Given the description of an element on the screen output the (x, y) to click on. 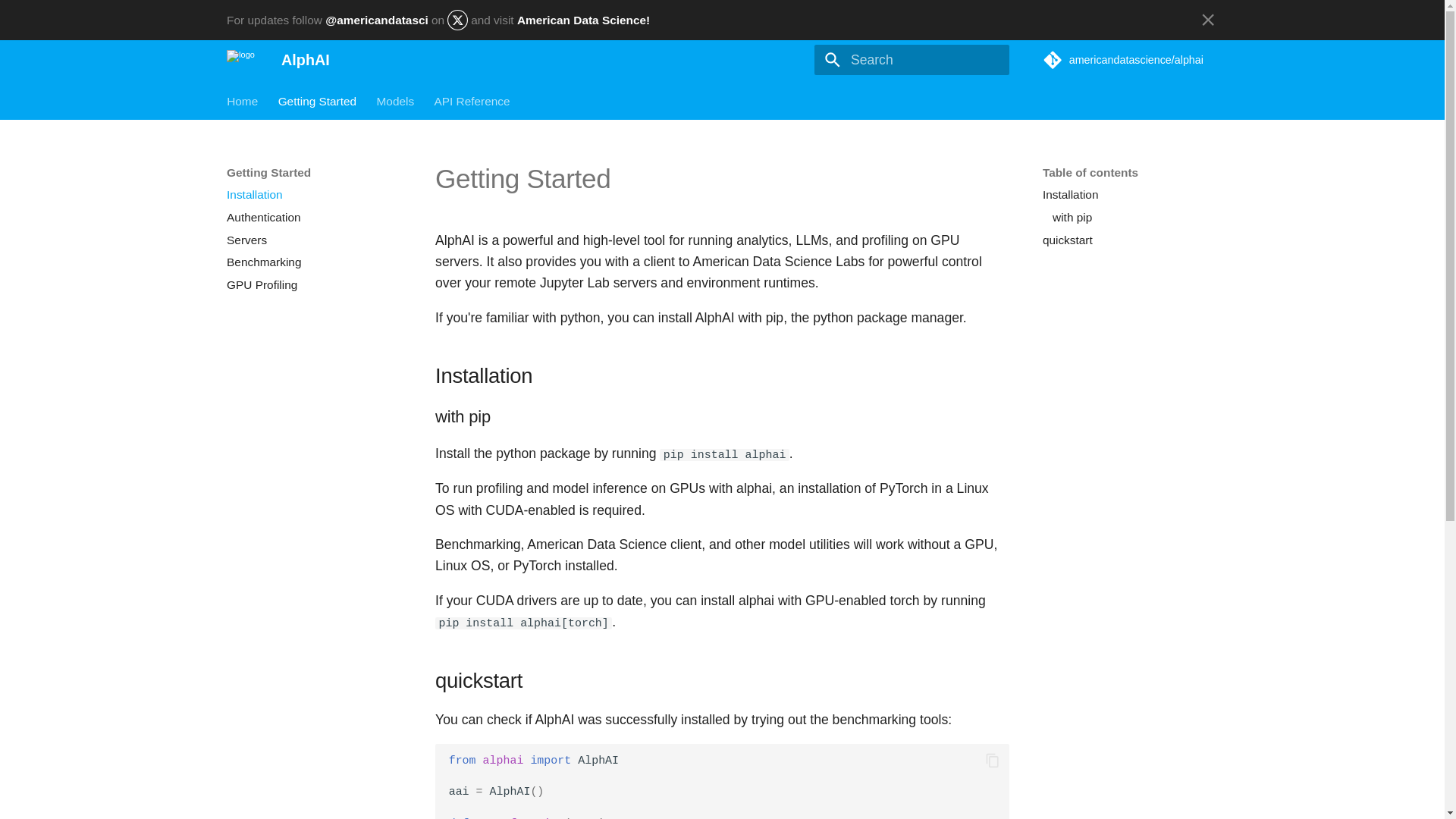
Servers (314, 240)
with pip (1134, 217)
Authentication (314, 217)
quickstart (1129, 240)
API Reference (471, 100)
Getting Started (317, 100)
Installation (314, 194)
Models (394, 100)
GPU Profiling (314, 284)
Home (242, 100)
